Given the description of an element on the screen output the (x, y) to click on. 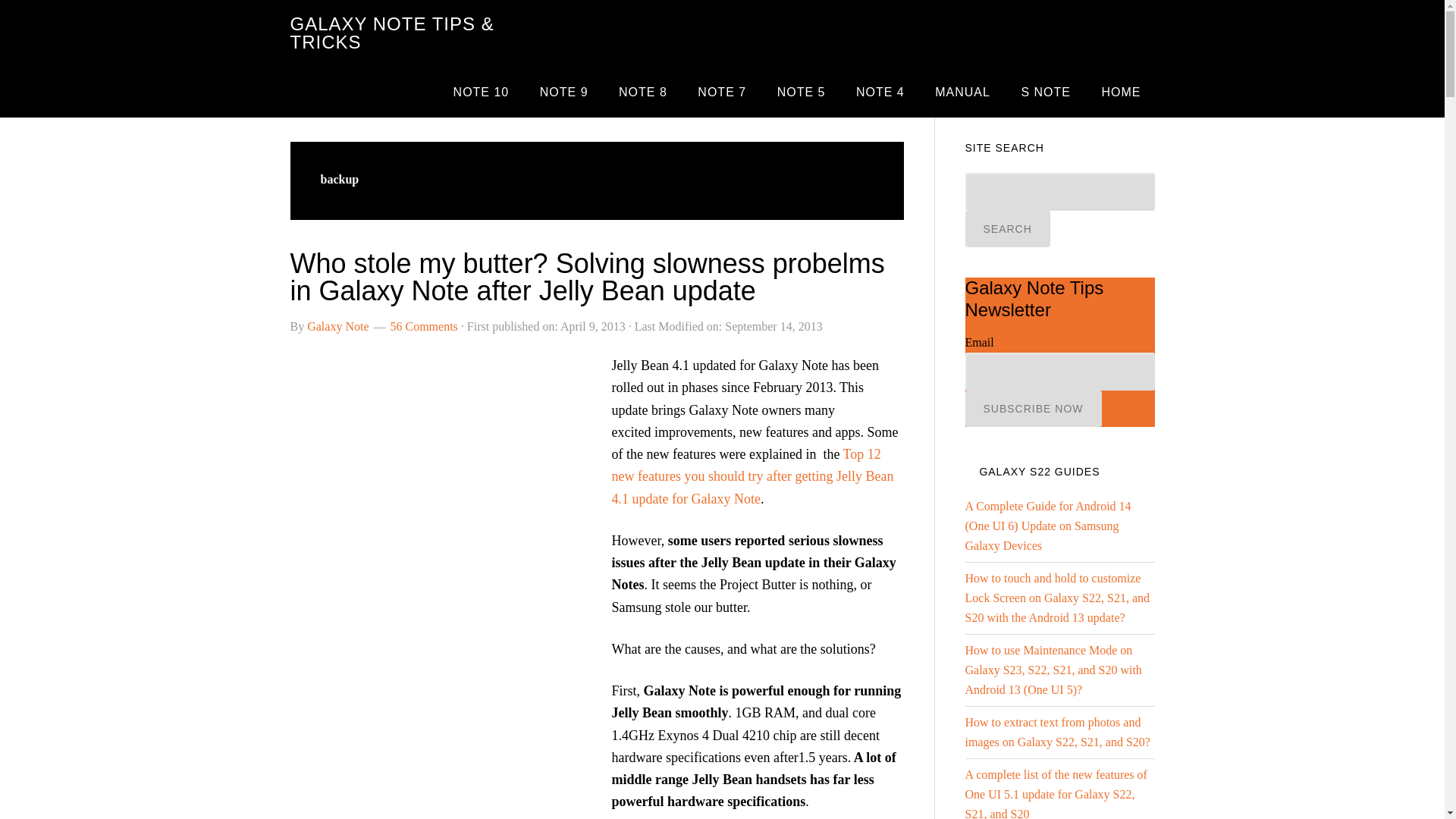
NOTE 10 (480, 91)
Subscribe Now (1031, 408)
NOTE 7 (722, 91)
Search (1006, 228)
NOTE 9 (563, 91)
NOTE 8 (643, 91)
